Given the description of an element on the screen output the (x, y) to click on. 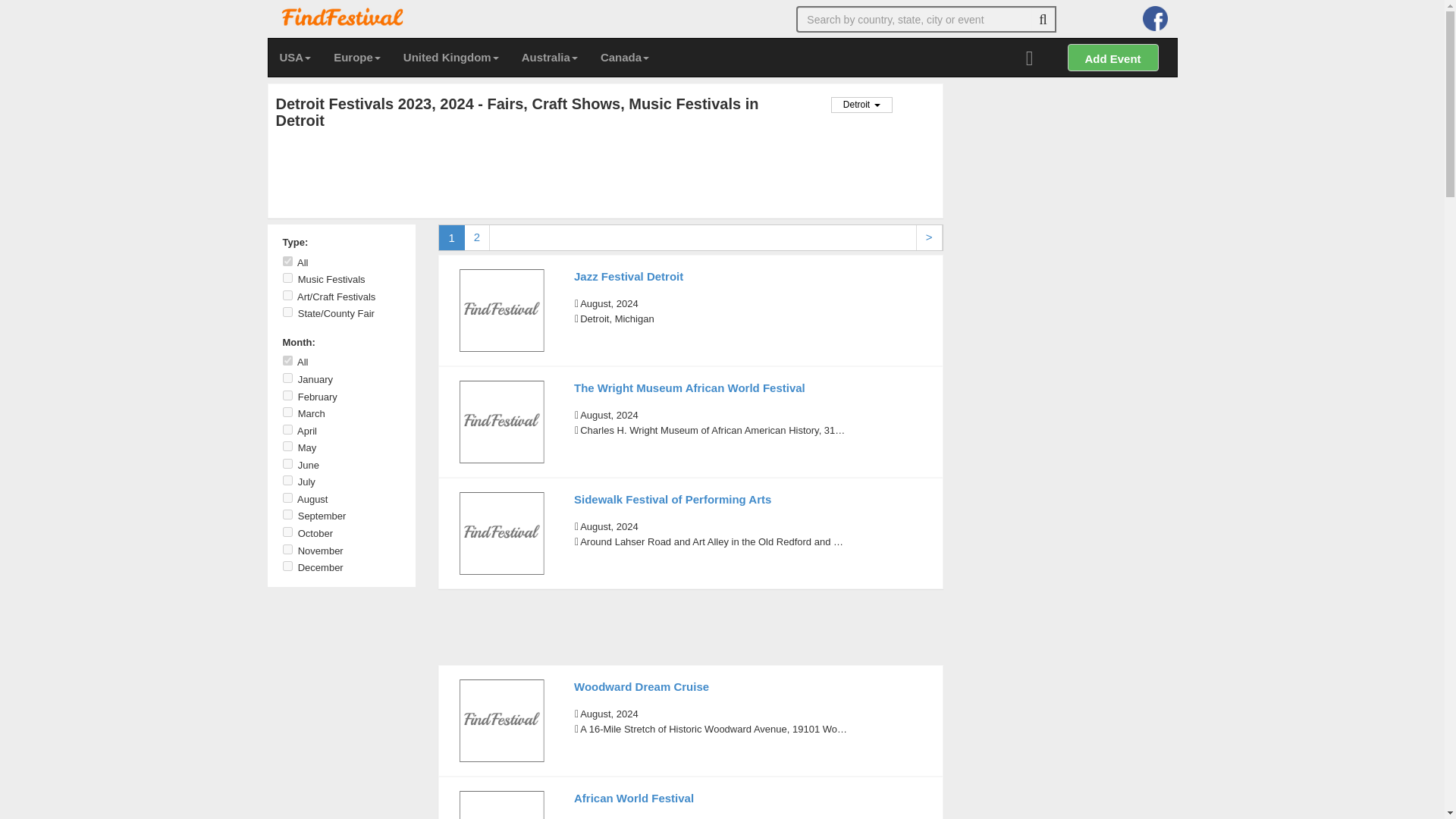
12 (287, 565)
7 (287, 480)
Jazz Festival Detroit 2024 (501, 309)
6 (287, 463)
10 (287, 532)
5 (287, 446)
USA (295, 57)
3 (287, 411)
1 (287, 378)
8 (287, 497)
